Given the description of an element on the screen output the (x, y) to click on. 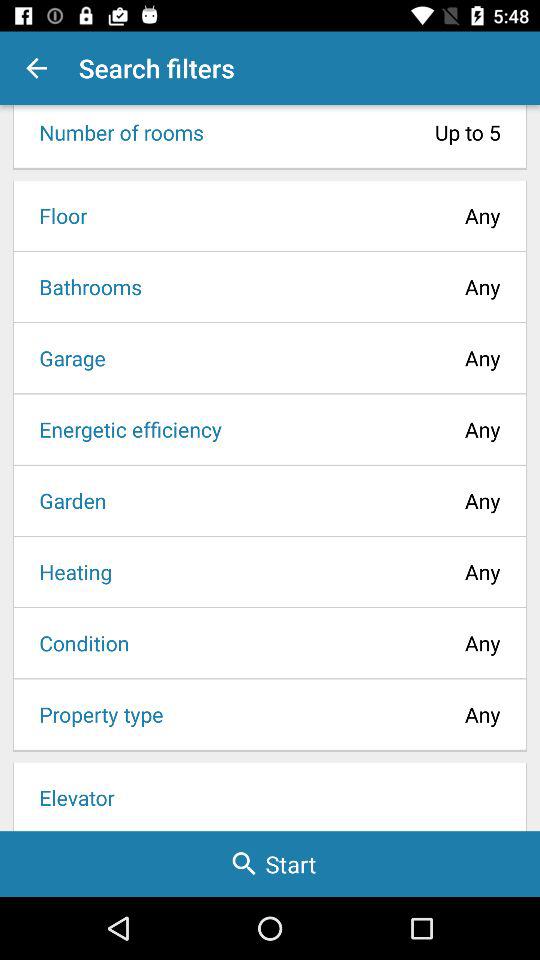
choose the icon to the left of the any item (94, 714)
